Given the description of an element on the screen output the (x, y) to click on. 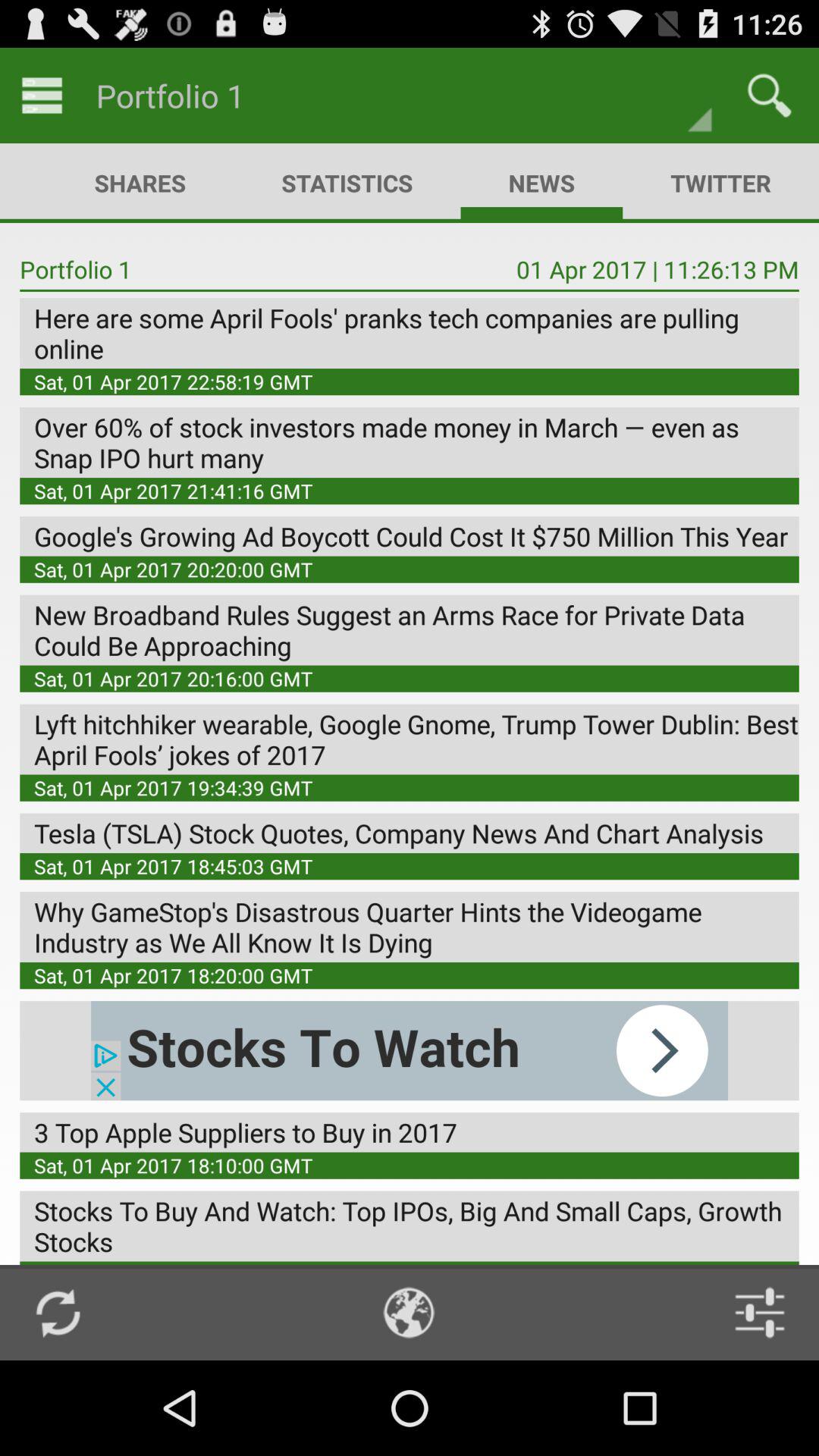
search (769, 95)
